Given the description of an element on the screen output the (x, y) to click on. 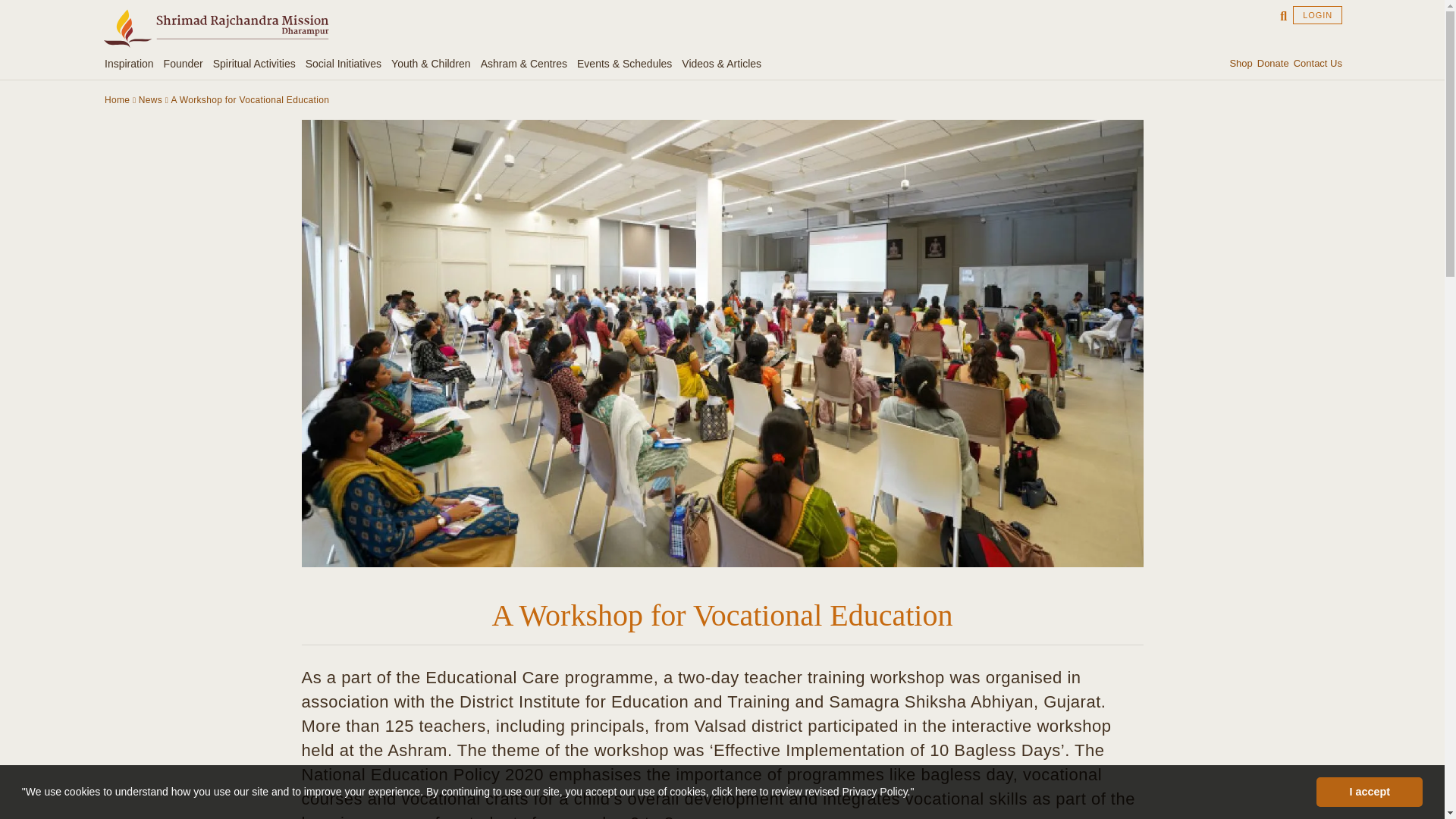
I accept (1369, 791)
Founder (185, 64)
Login (1317, 14)
Shrimad Rajchandra Mission Dharampur (215, 27)
LOGIN (1317, 14)
click here to review revised Privacy Policy." (812, 791)
Spiritual Activities (256, 64)
Inspiration (131, 64)
